Given the description of an element on the screen output the (x, y) to click on. 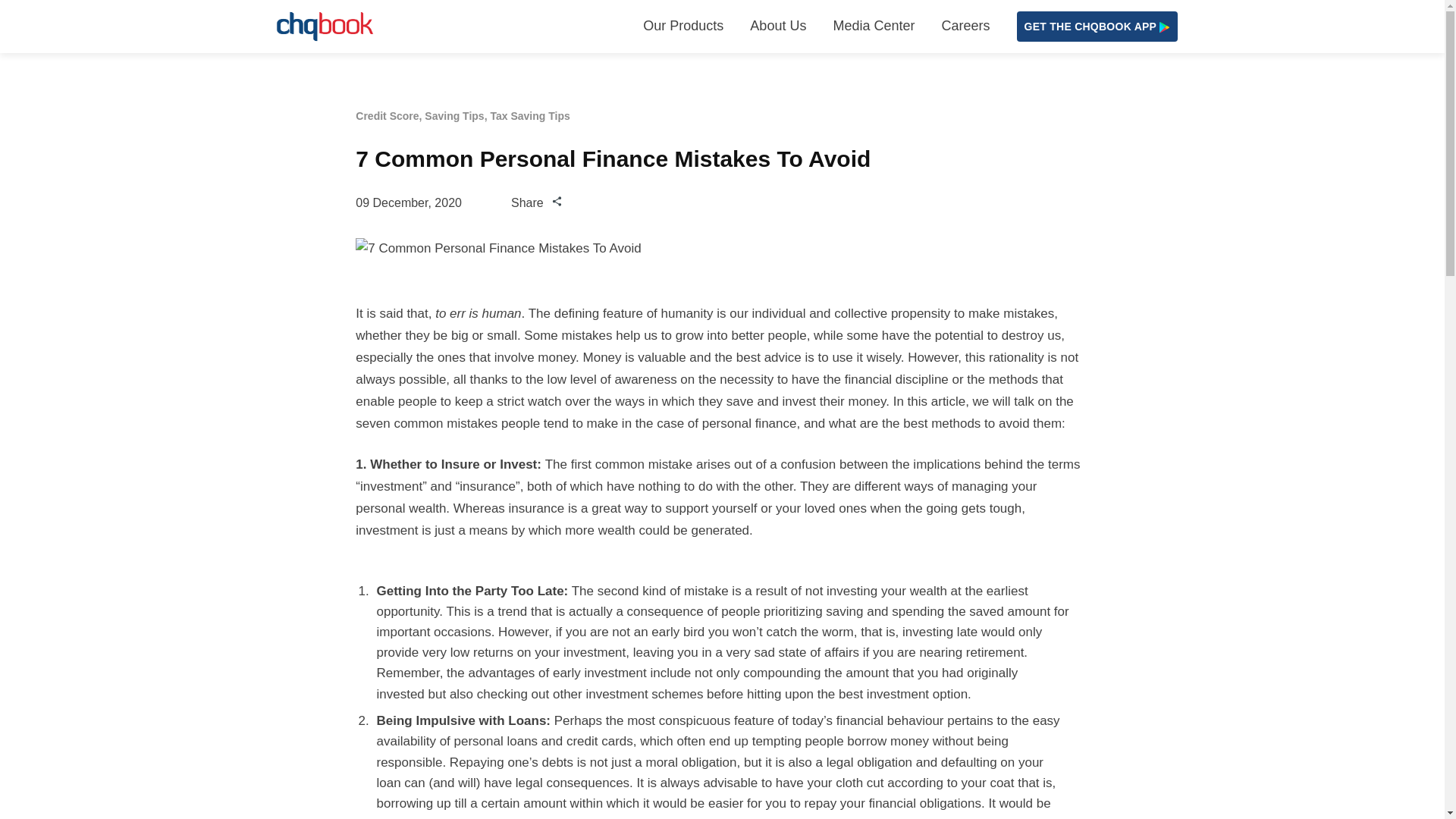
Our Products (683, 26)
About Us (777, 26)
Careers (965, 26)
GET THE CHQBOOK APP (1096, 26)
Media Center (873, 26)
